Given the description of an element on the screen output the (x, y) to click on. 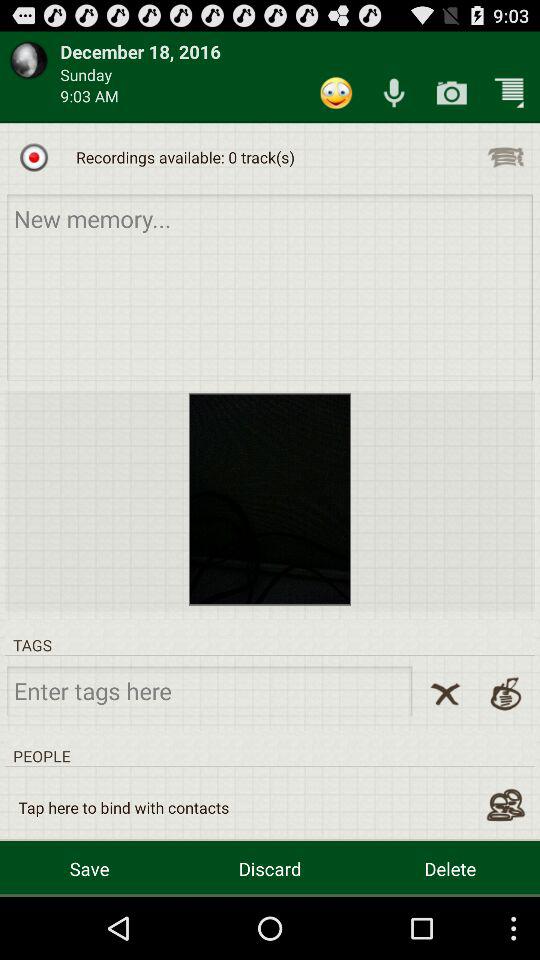
open list of contacts (505, 805)
